Given the description of an element on the screen output the (x, y) to click on. 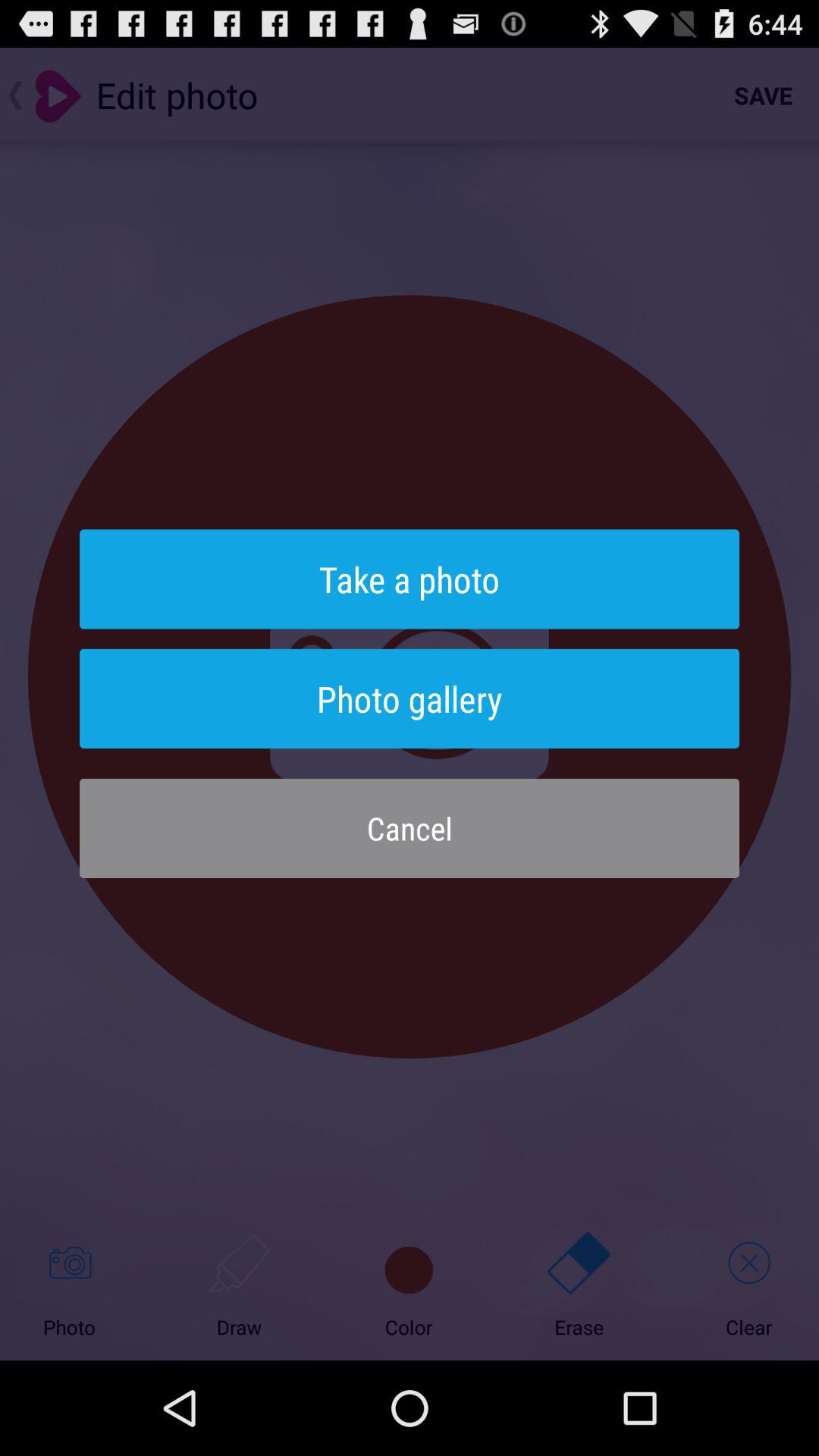
press the button below take a photo (409, 698)
